Given the description of an element on the screen output the (x, y) to click on. 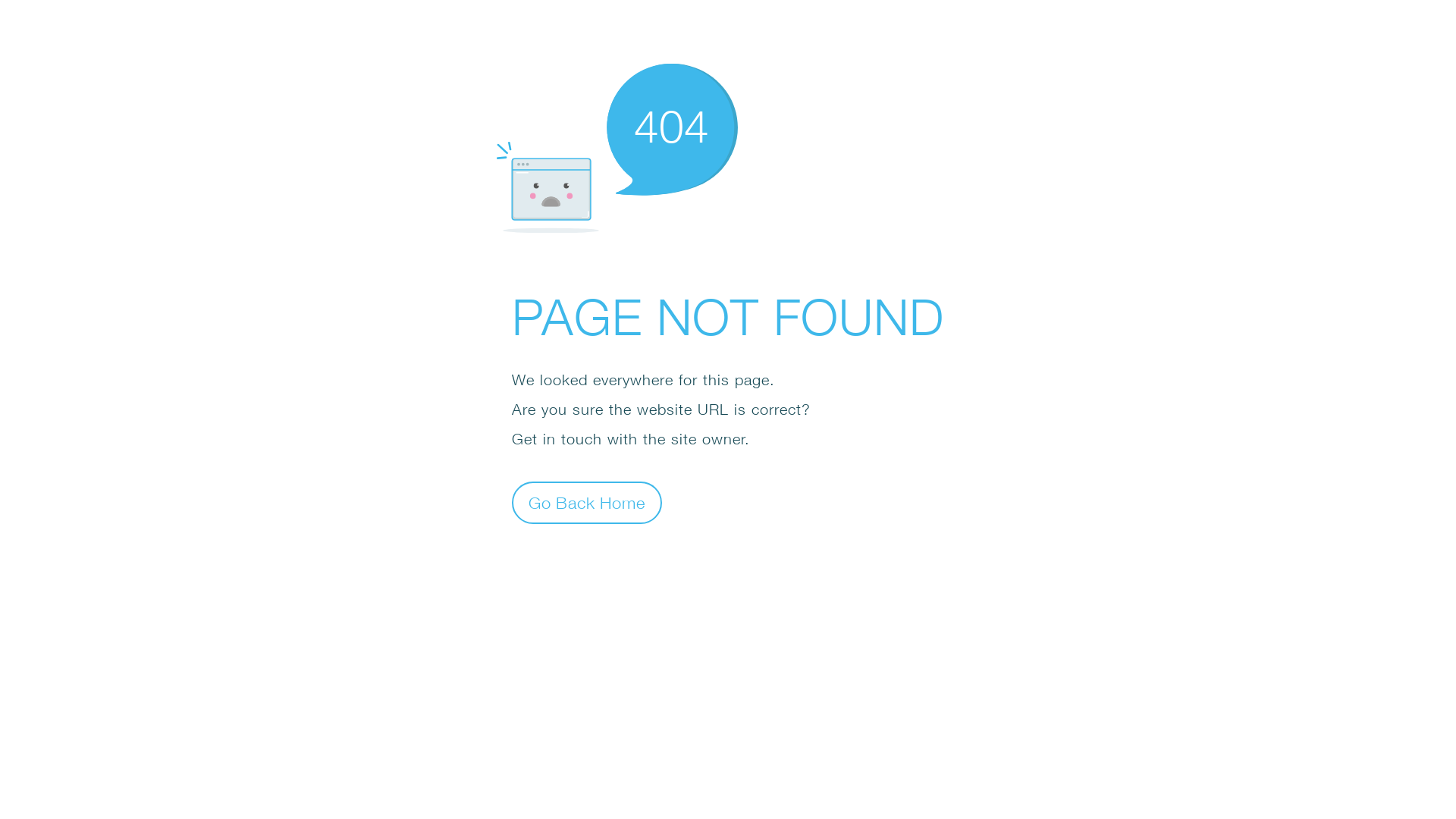
Go Back Home Element type: text (586, 502)
